Given the description of an element on the screen output the (x, y) to click on. 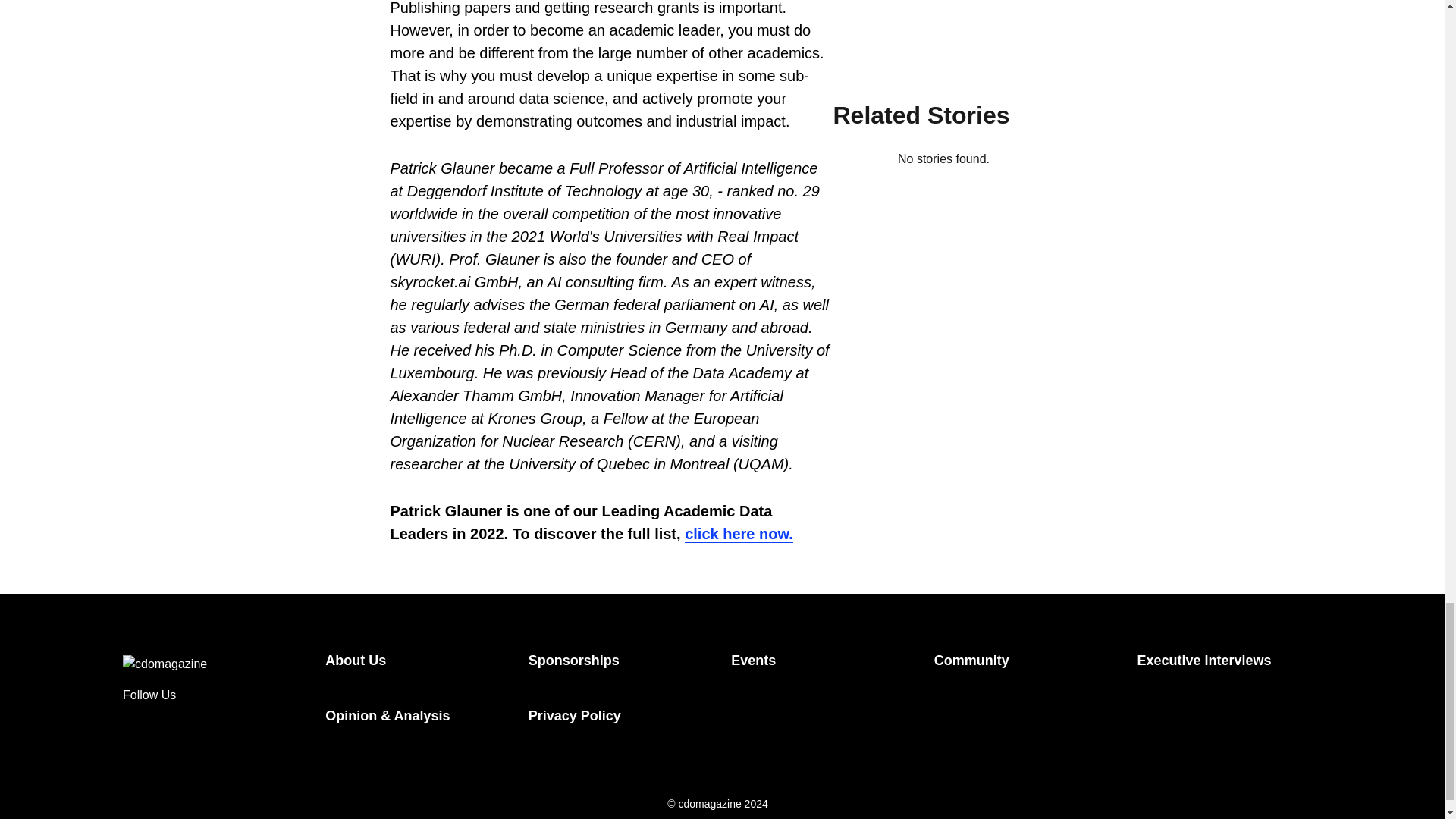
click here now. (738, 533)
